Given the description of an element on the screen output the (x, y) to click on. 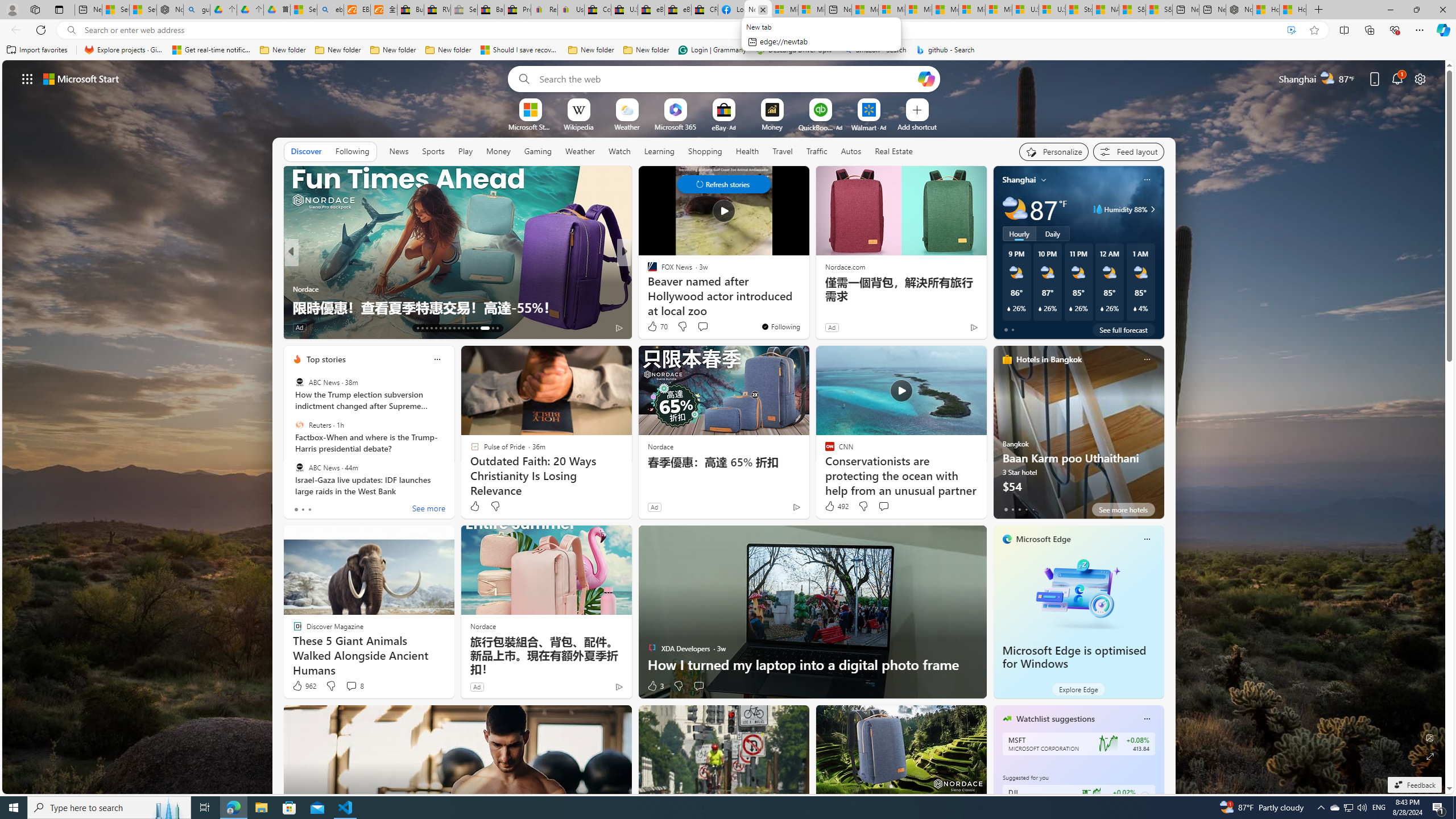
Edit Background (1430, 737)
Wikipedia (578, 126)
11 Like (652, 327)
Microsoft Start Sports (529, 126)
AutomationID: tab-18 (440, 328)
See full forecast (1123, 329)
Start the conversation (698, 685)
Baby Keepsakes & Announcements for sale | eBay (491, 9)
Microsoft Edge is optimised for Windows (1074, 657)
Top stories (325, 359)
